Given the description of an element on the screen output the (x, y) to click on. 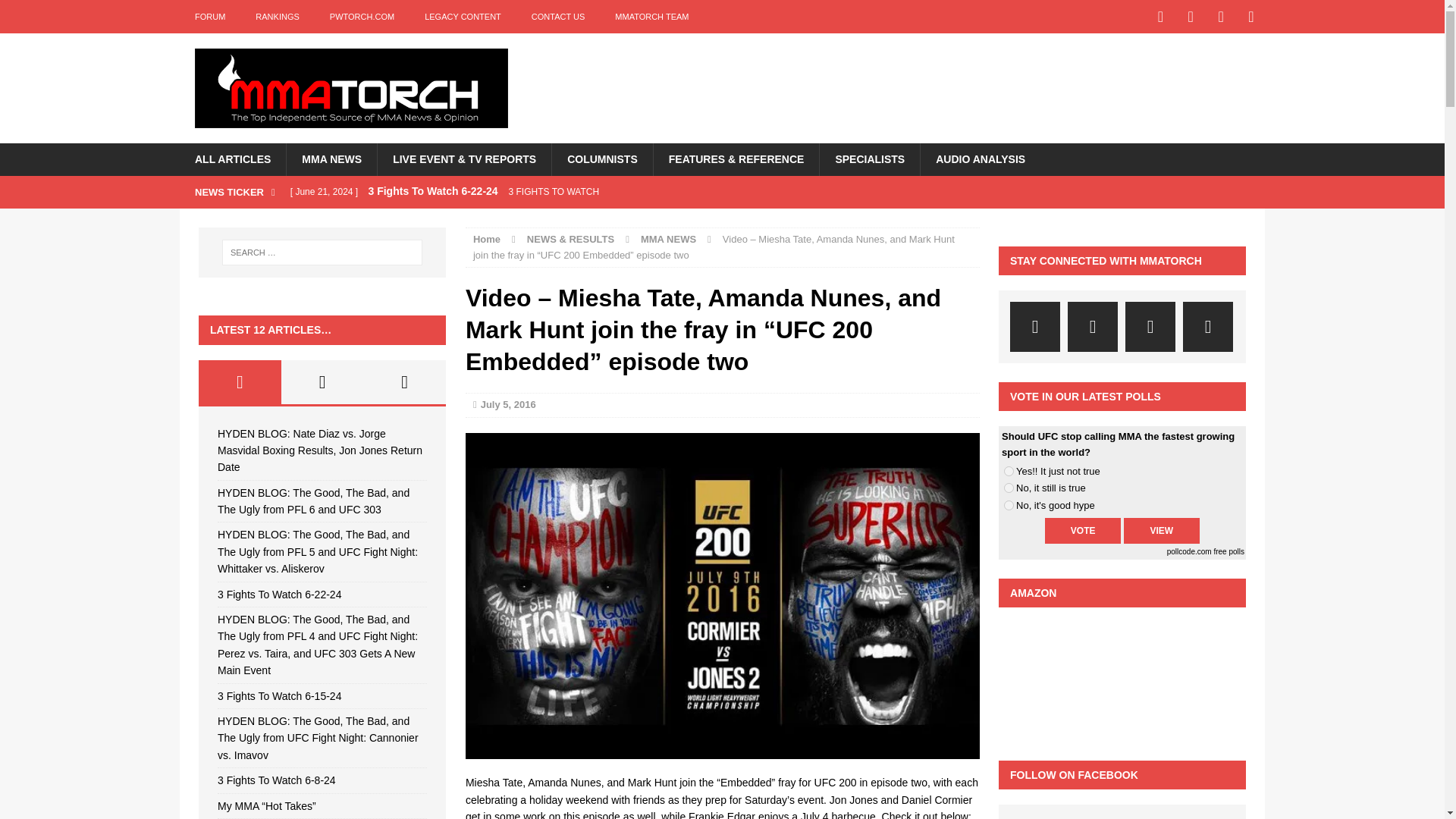
3 (1008, 505)
MMATorch (350, 88)
1 (1008, 470)
2 (1008, 488)
3 Fights To Watch 6-22-24 (582, 192)
 View  (1161, 530)
 Vote  (1083, 530)
